Given the description of an element on the screen output the (x, y) to click on. 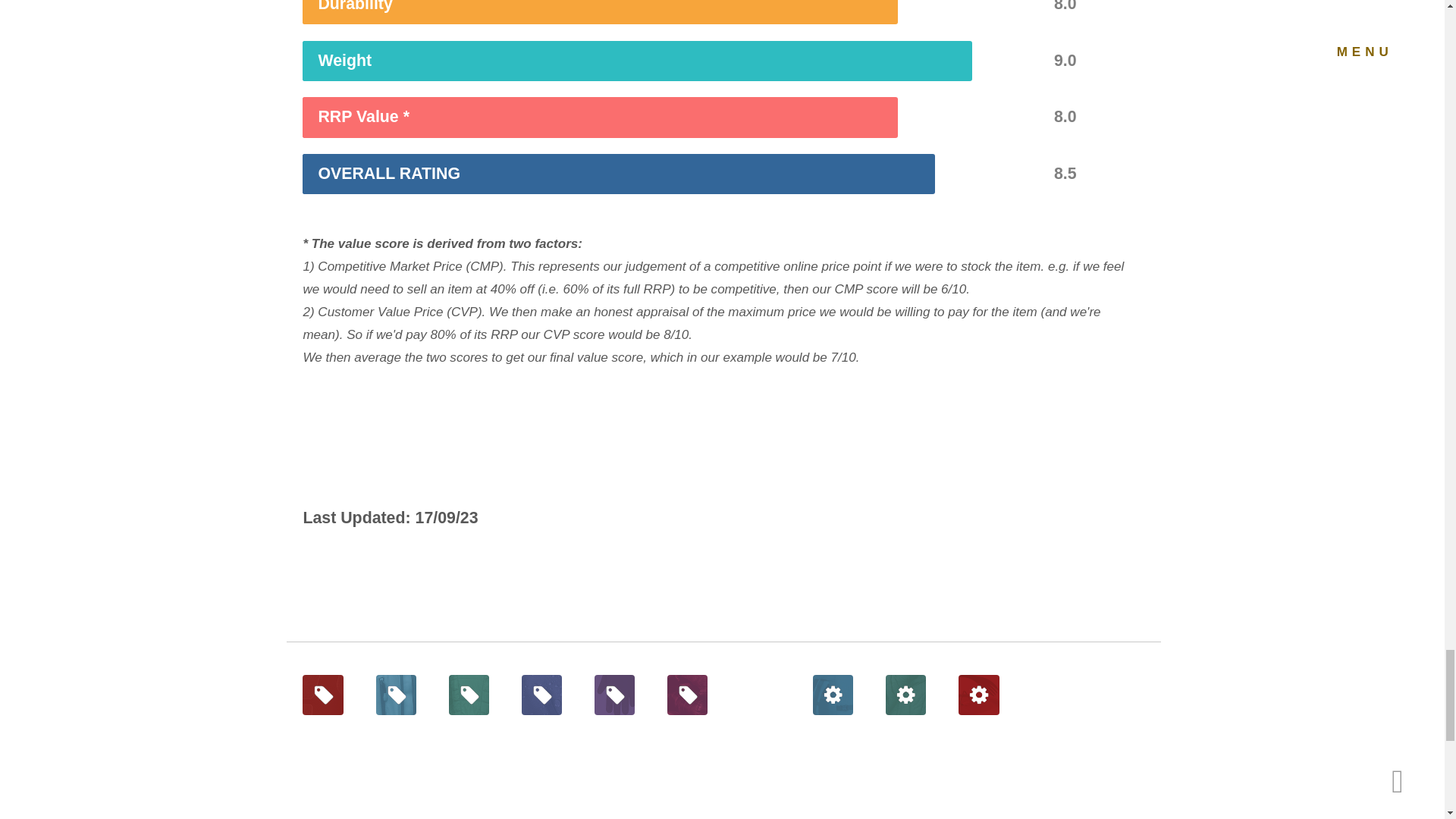
Sleepwear (686, 694)
Baselayers (322, 694)
Active Outer Layers (395, 694)
Other Equipment (978, 694)
Insulated Outer Layers (468, 694)
Load Carry (832, 694)
Extremities (614, 694)
Waterproofs (541, 694)
Shelter (905, 694)
